Given the description of an element on the screen output the (x, y) to click on. 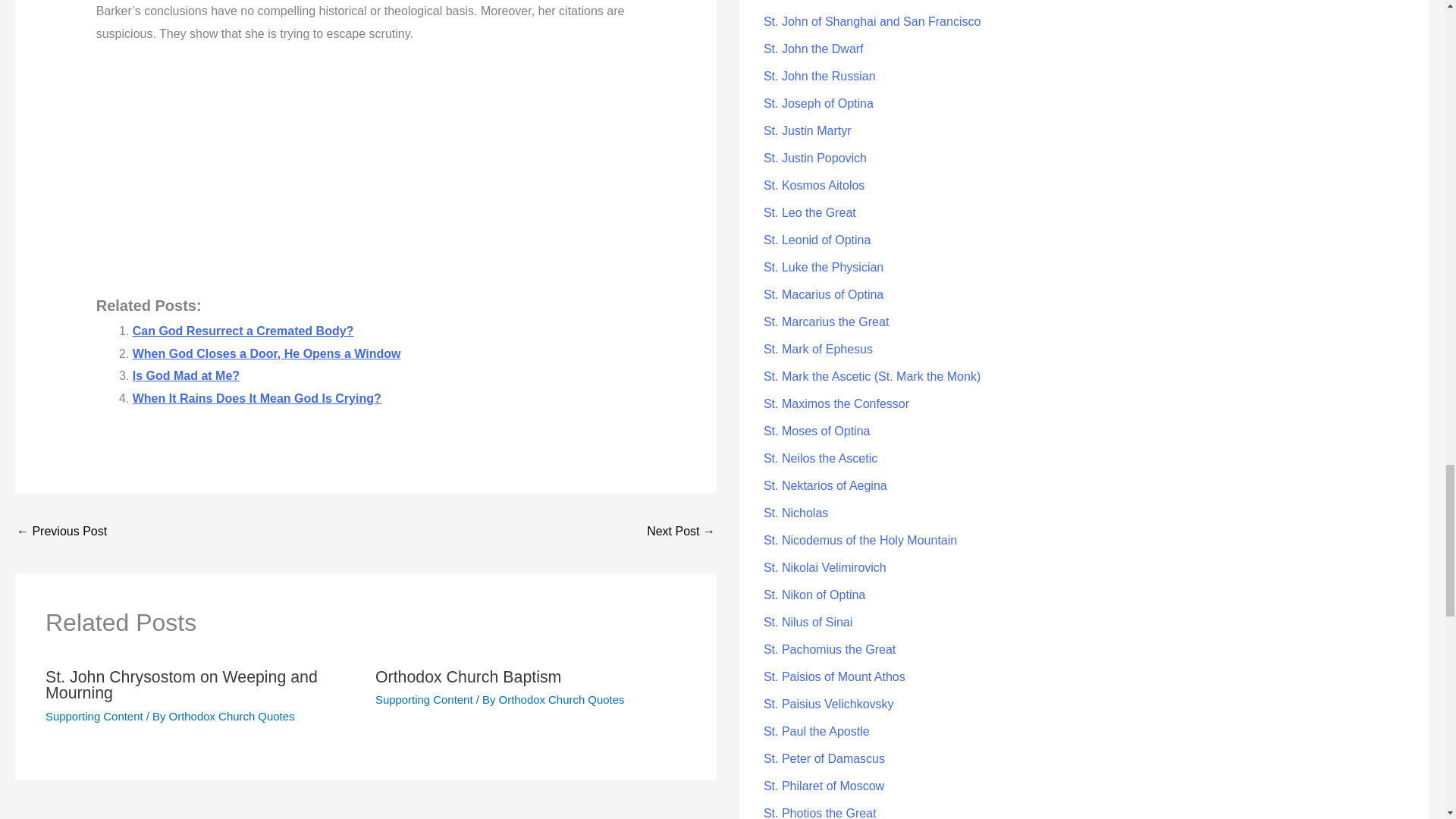
View all posts by Orthodox Church Quotes (561, 698)
Can God Resurrect a Cremated Body? (242, 330)
When God Closes a Door, He Opens a Window (266, 353)
All Saints Antiochian Orthodox Church (680, 532)
Can God Resurrect a Cremated Body? (242, 330)
Orthodox Christians (61, 532)
Is God Mad at Me? (186, 375)
When It Rains Does It Mean God Is Crying? (256, 398)
View all posts by Orthodox Church Quotes (231, 716)
